Given the description of an element on the screen output the (x, y) to click on. 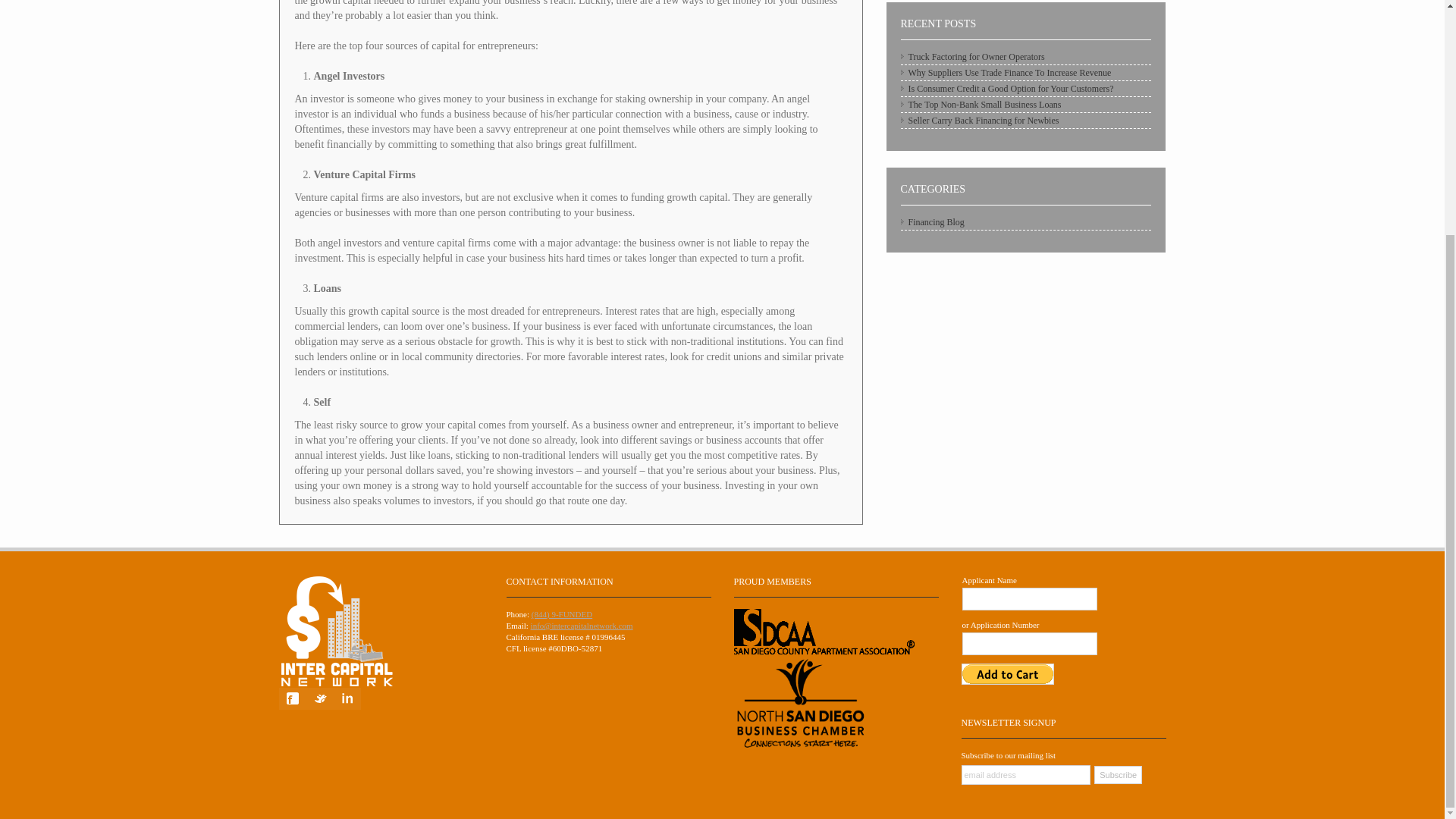
Financing Blog (935, 222)
Is Consumer Credit a Good Option for Your Customers? (1010, 88)
The Top Non-Bank Small Business Loans (984, 104)
Truck Factoring for Owner Operators (976, 56)
Seller Carry Back Financing for Newbies (983, 120)
Why Suppliers Use Trade Finance To Increase Revenue (1010, 72)
Subscribe (1117, 774)
Subscribe (1117, 774)
